Given the description of an element on the screen output the (x, y) to click on. 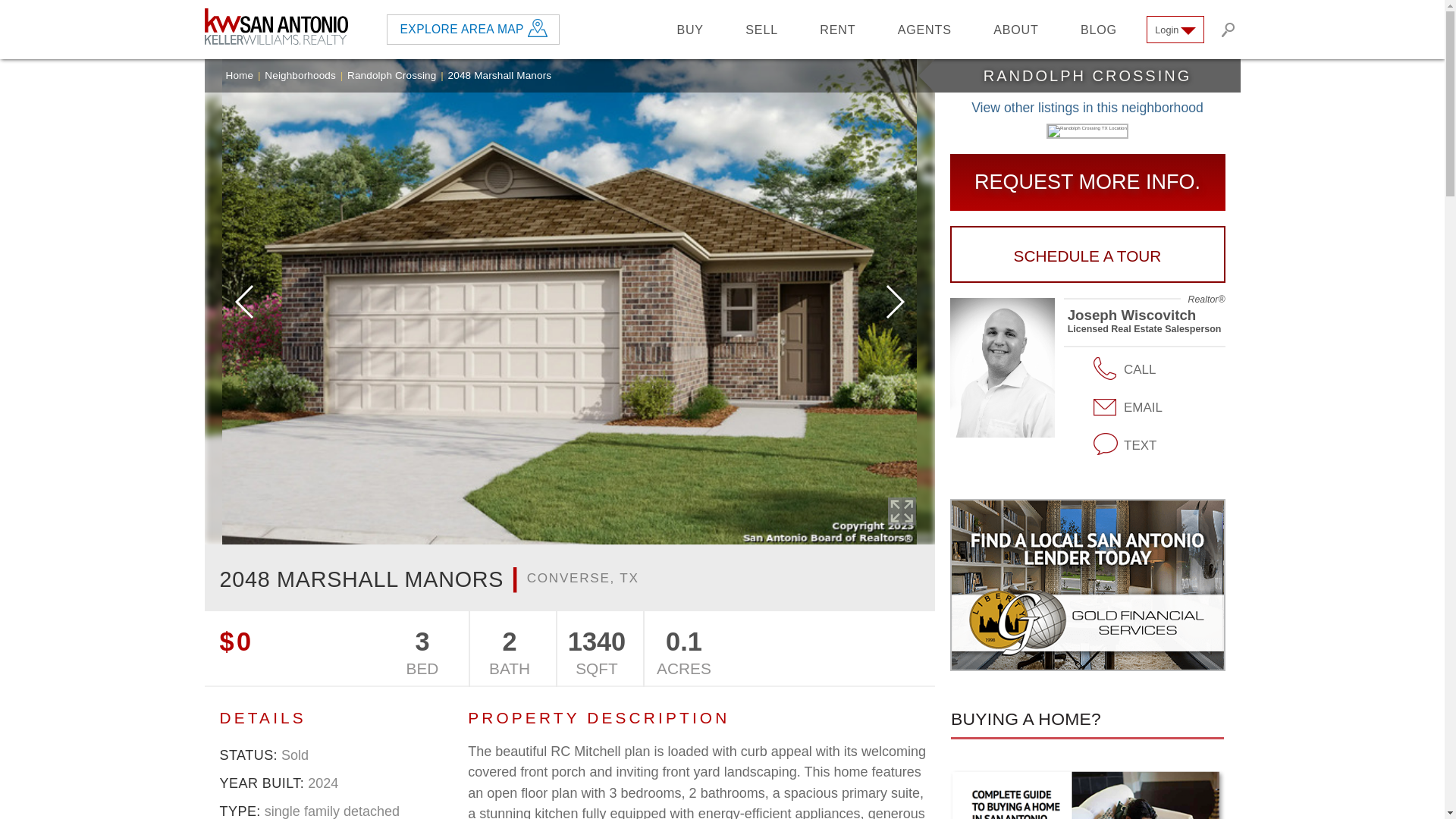
SELL (761, 29)
BLOG (1098, 29)
EXPLORE AREA MAP (462, 29)
2048-marshall-manors-converse-tx-78109 (900, 511)
RENT (837, 29)
ABOUT (1016, 29)
AGENTS (924, 29)
